Given the description of an element on the screen output the (x, y) to click on. 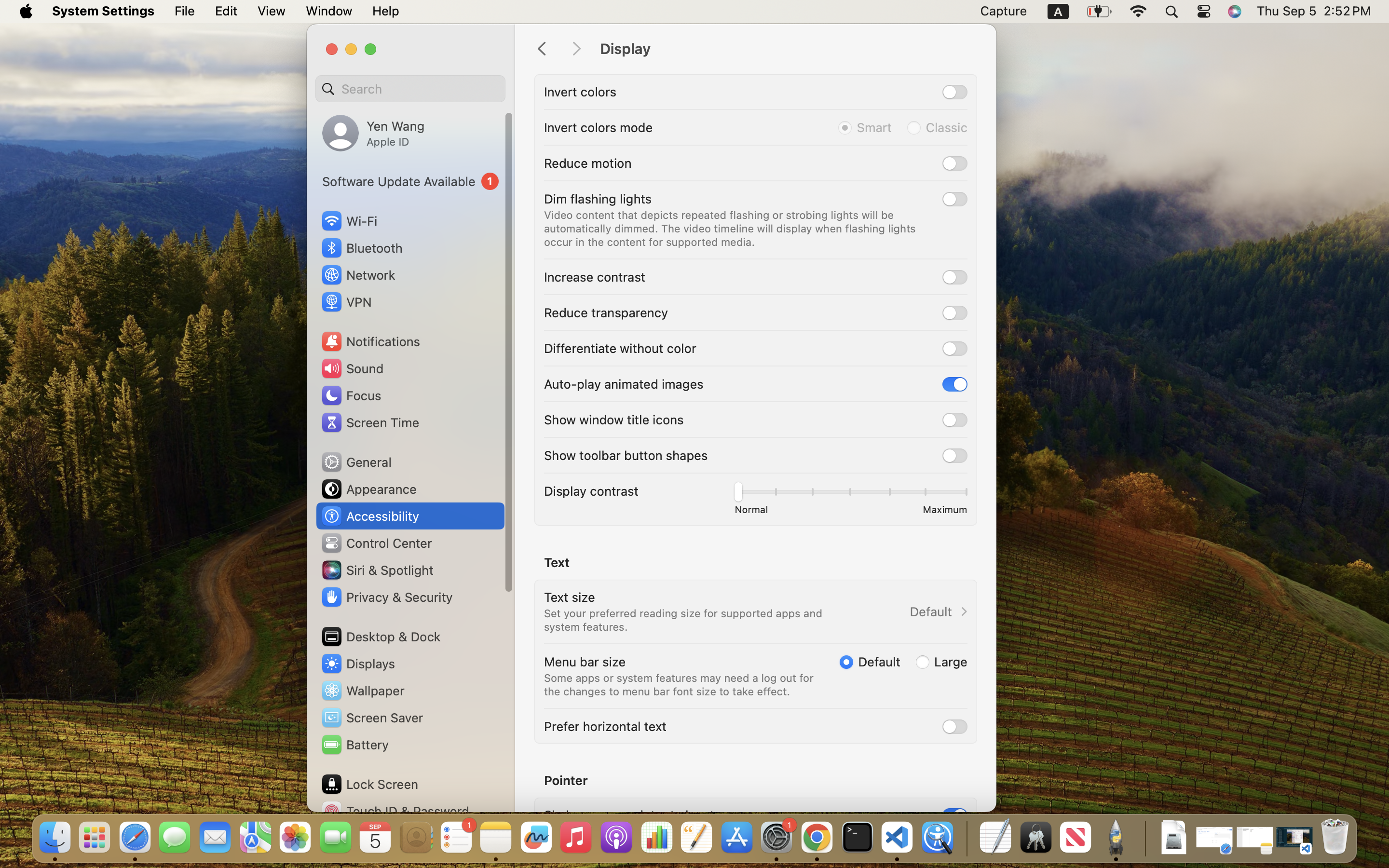
Show window title icons Element type: AXStaticText (613, 419)
Display contrast Element type: AXStaticText (591, 490)
Accessibility Element type: AXStaticText (369, 515)
Auto-play animated images Element type: AXStaticText (623, 383)
Video content that depicts repeated flashing or strobing lights will be automatically dimmed. The video timeline will display when flashing lights occur in the content for supported media. Element type: AXStaticText (731, 228)
